Given the description of an element on the screen output the (x, y) to click on. 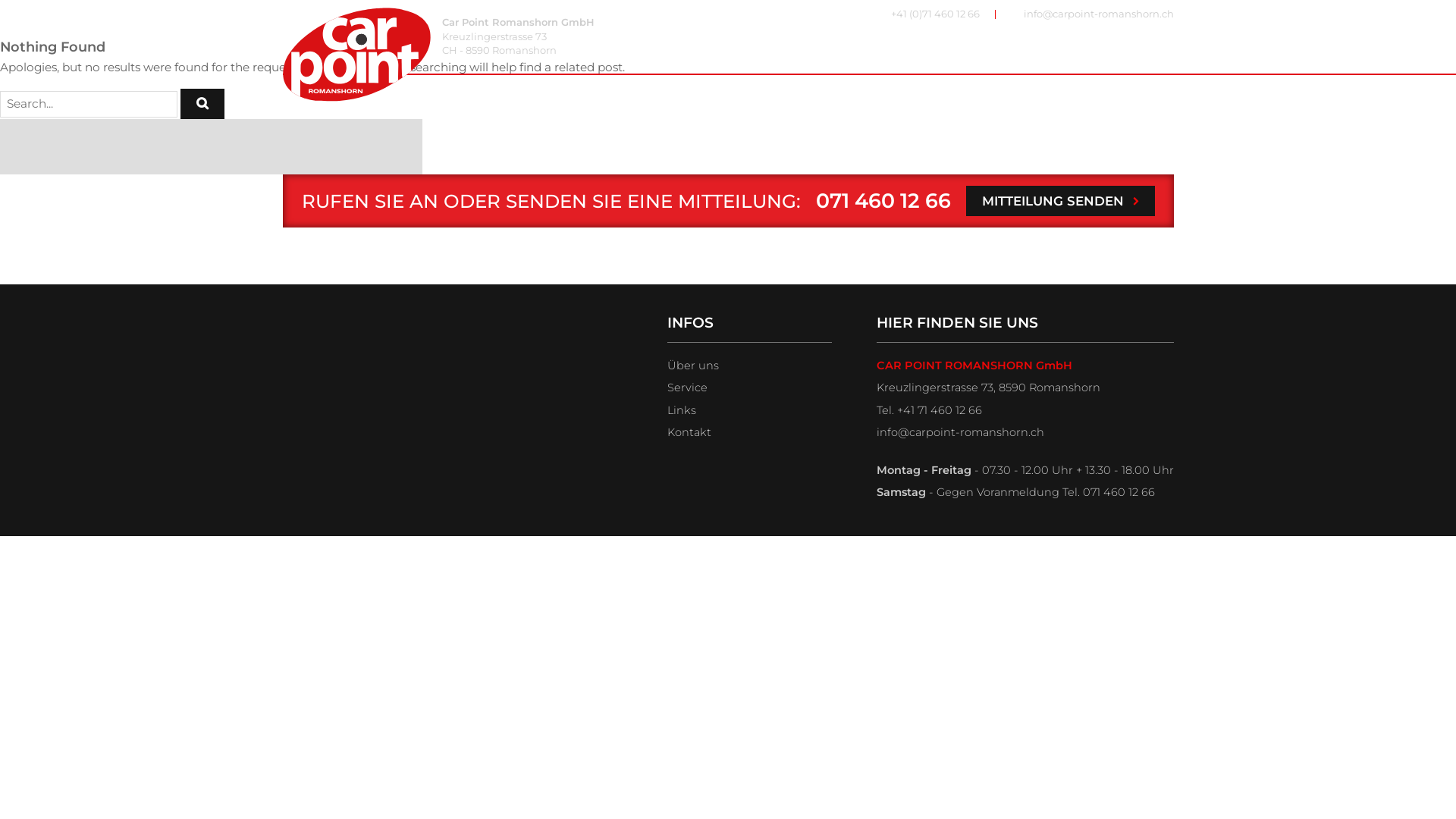
Kontakt Element type: text (689, 432)
SERVICE Element type: text (884, 49)
Links Element type: text (681, 410)
KONTAKT Element type: text (1142, 49)
AKTUELLES Element type: text (968, 49)
MITTEILUNG SENDEN Element type: text (1060, 200)
+41 (0)71 460 12 66 Element type: text (929, 13)
HOME Element type: text (816, 49)
071 460 12 66 Element type: text (882, 200)
info@carpoint-romanshorn.ch Element type: text (1091, 13)
Service Element type: text (687, 387)
